Given the description of an element on the screen output the (x, y) to click on. 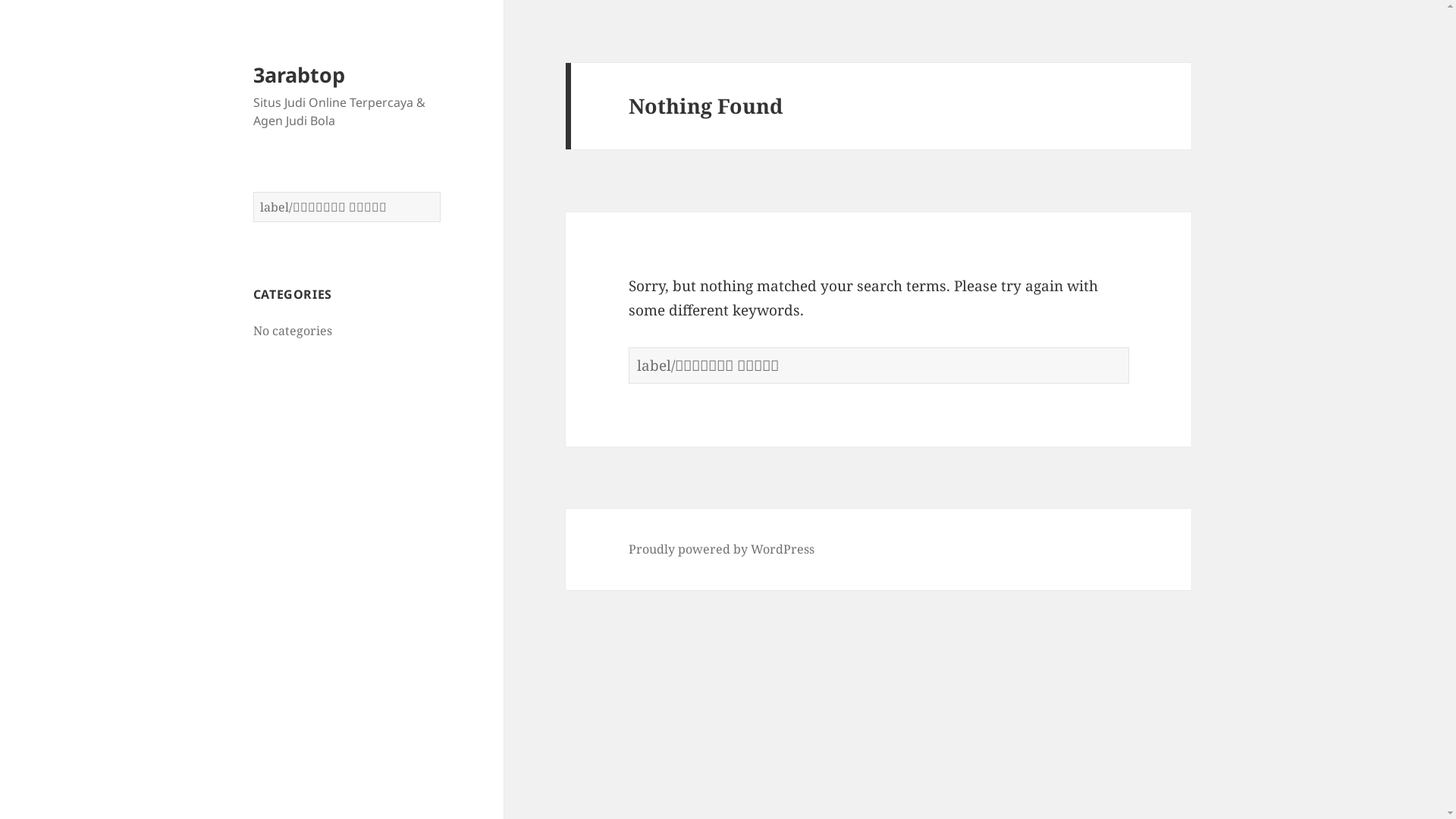
Proudly powered by WordPress Element type: text (721, 549)
3arabtop Element type: text (299, 74)
Search Element type: text (1129, 347)
Search Element type: text (440, 191)
